Given the description of an element on the screen output the (x, y) to click on. 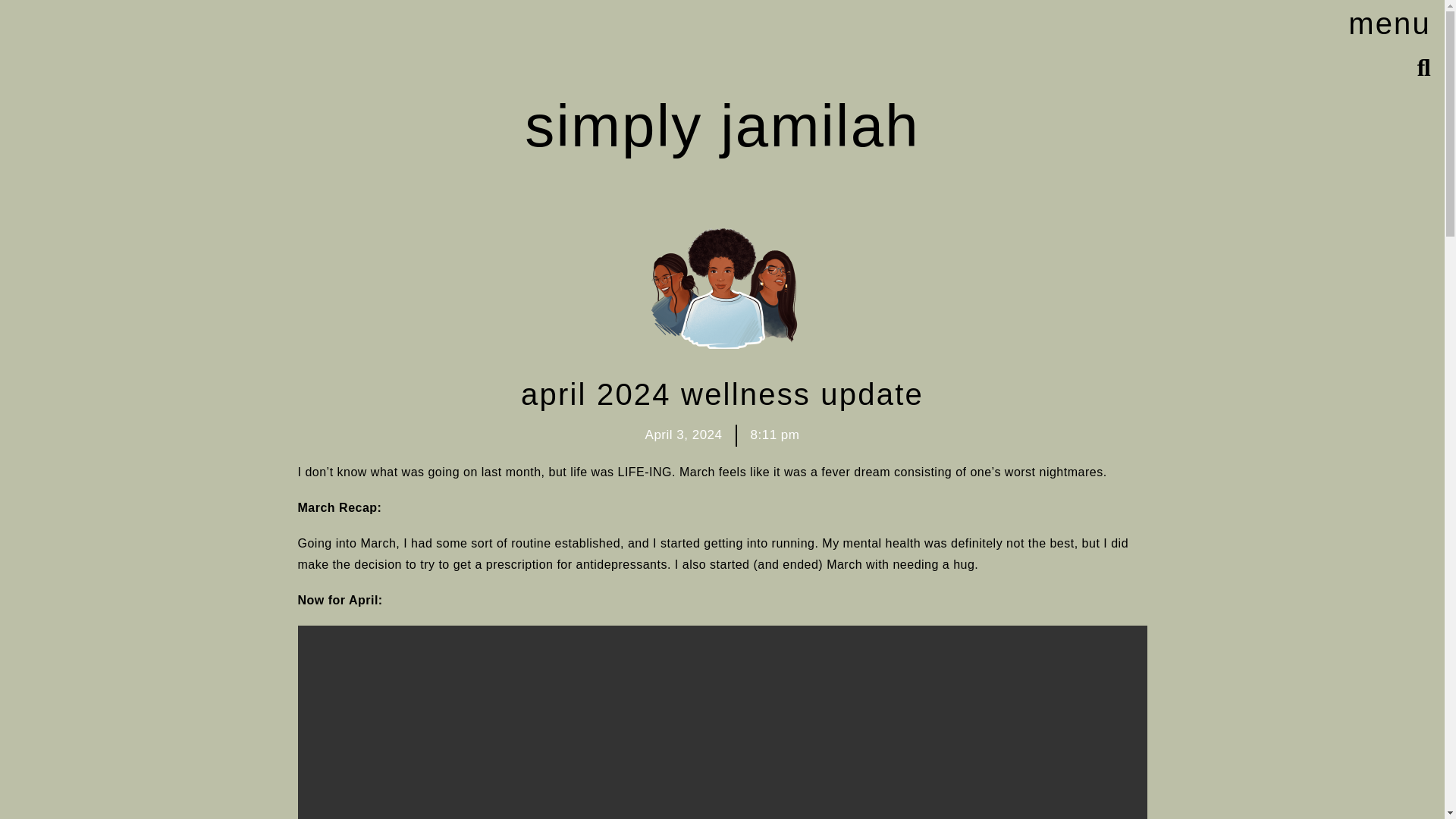
April 3, 2024 (683, 435)
Blue Logo PNG (721, 287)
simply jamilah (722, 125)
menu (1392, 23)
